Given the description of an element on the screen output the (x, y) to click on. 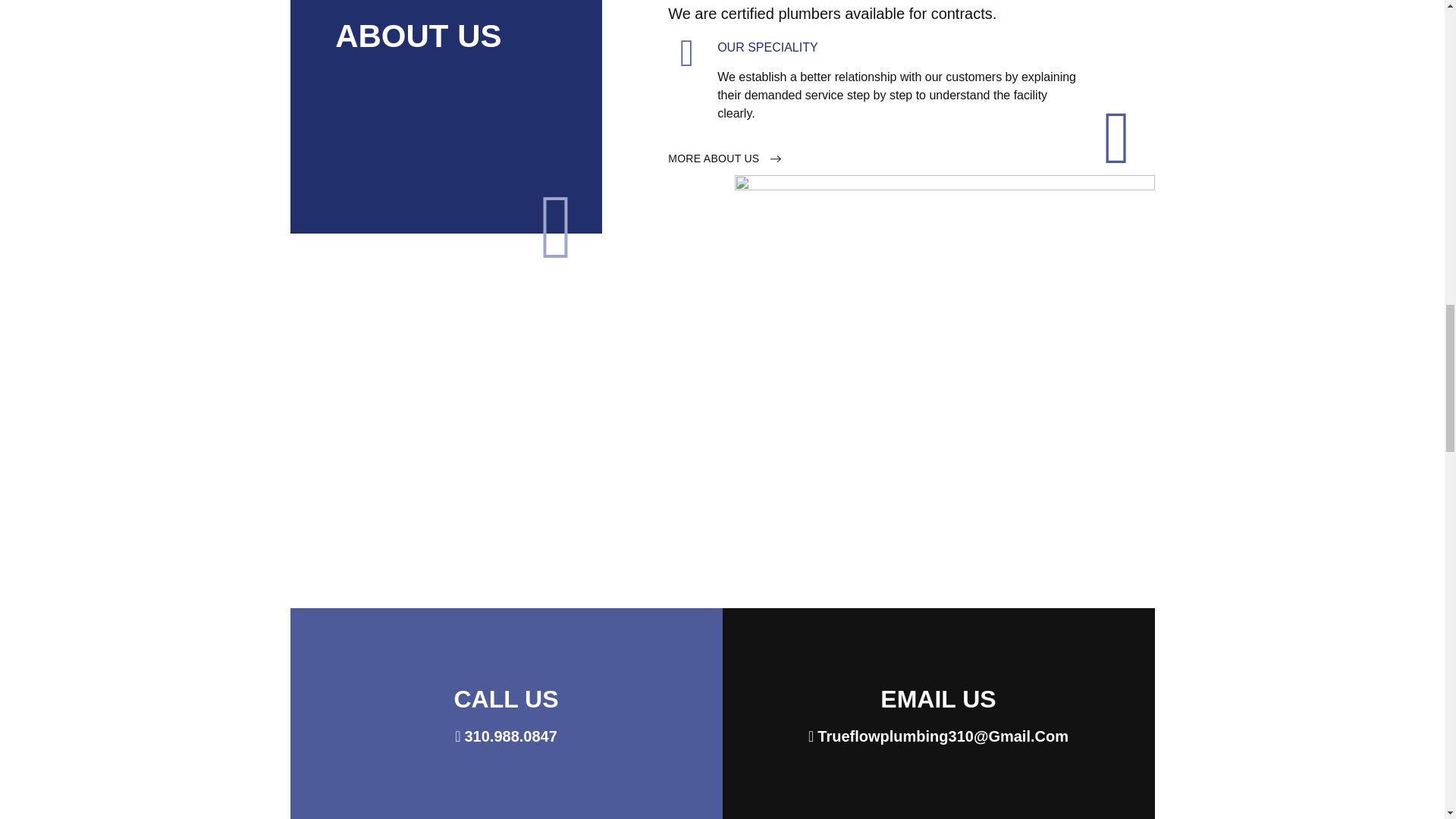
MORE ABOUT US (724, 158)
310.988.0847 (505, 736)
